Given the description of an element on the screen output the (x, y) to click on. 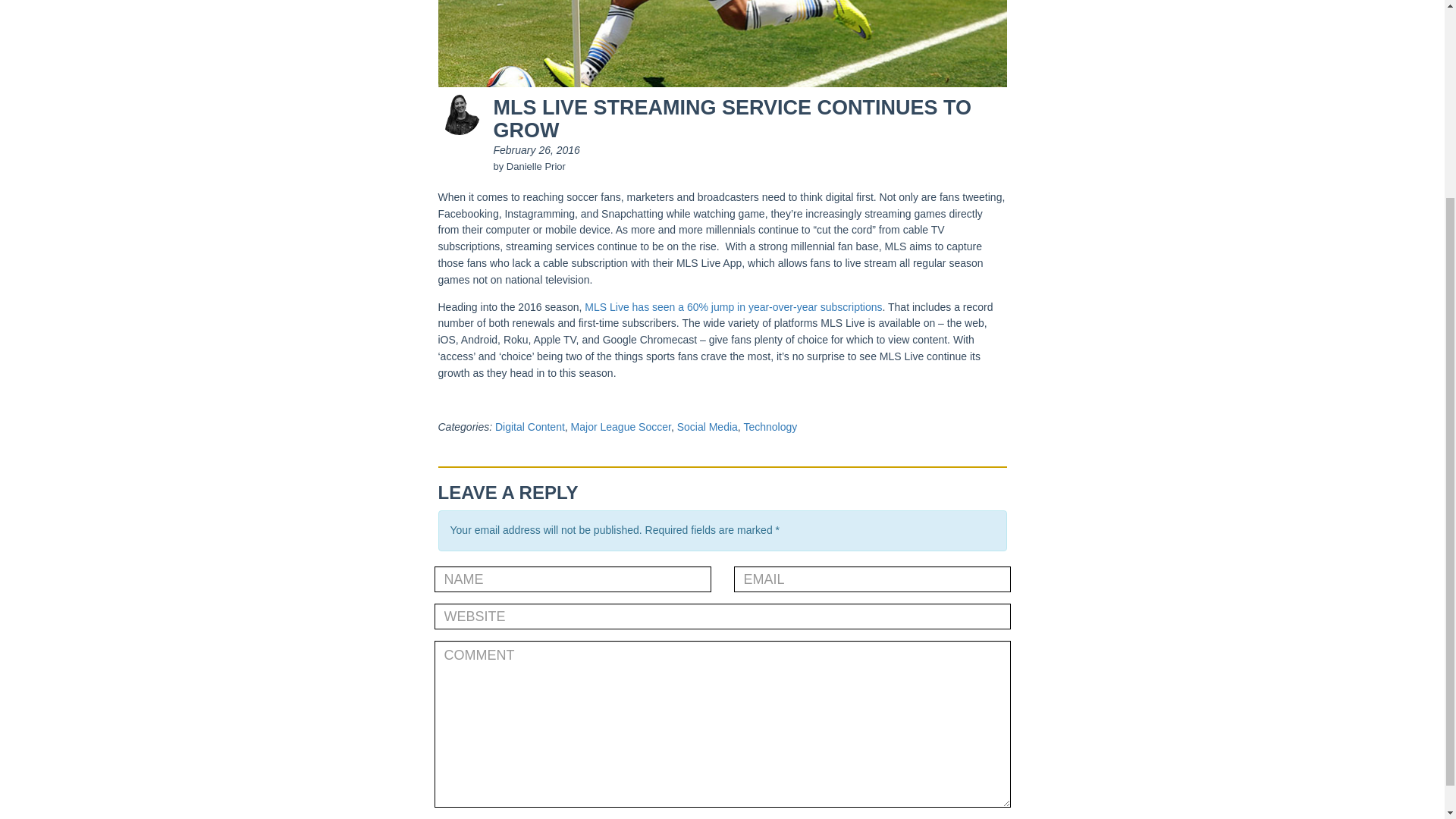
Digital Content (529, 426)
Social Media (707, 426)
Technology (769, 426)
Major League Soccer (620, 426)
